Given the description of an element on the screen output the (x, y) to click on. 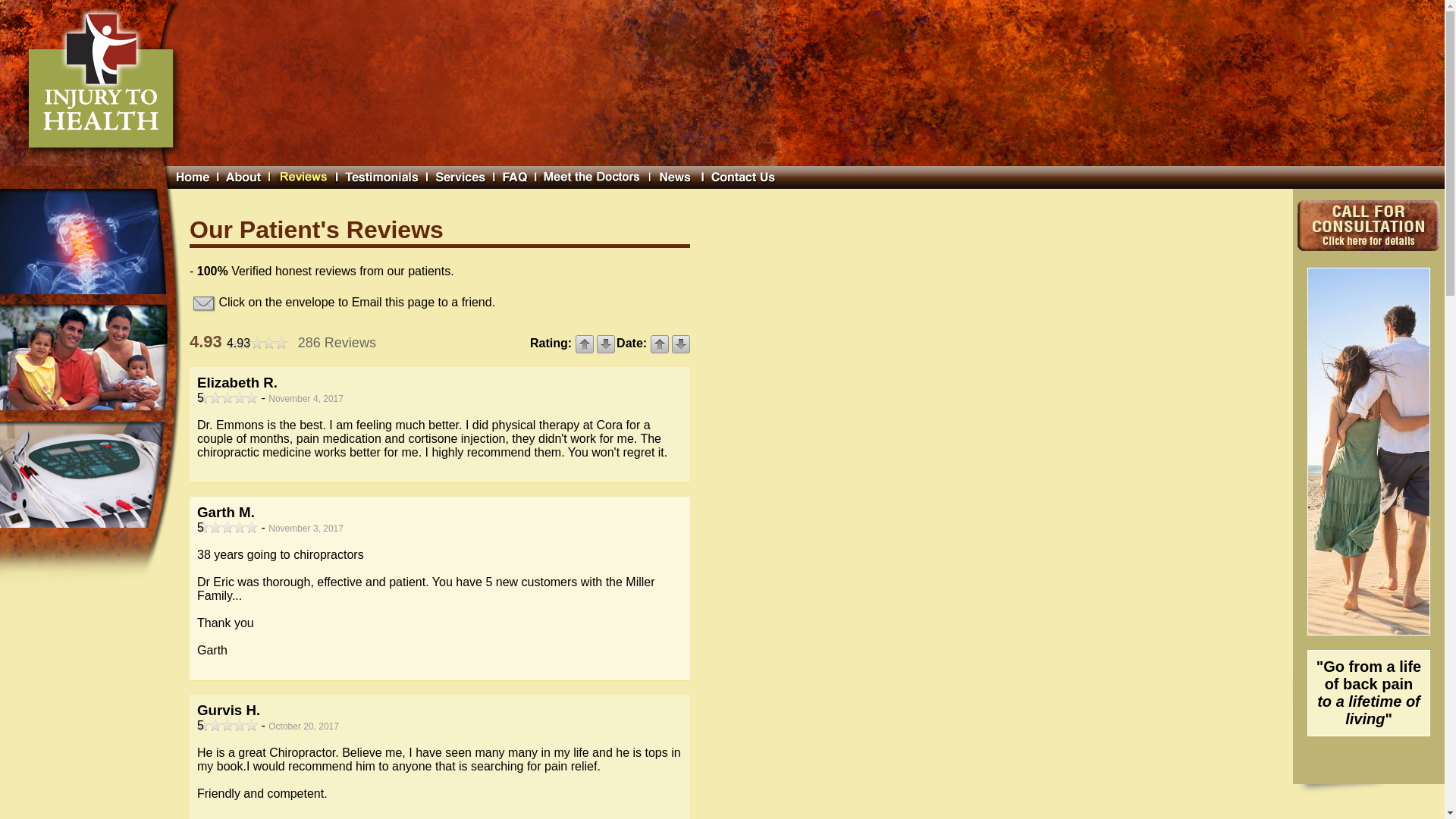
Ascending (584, 342)
E-mail this page to a friend (202, 303)
Descending (605, 342)
Ascending (659, 342)
Descending (680, 342)
